Given the description of an element on the screen output the (x, y) to click on. 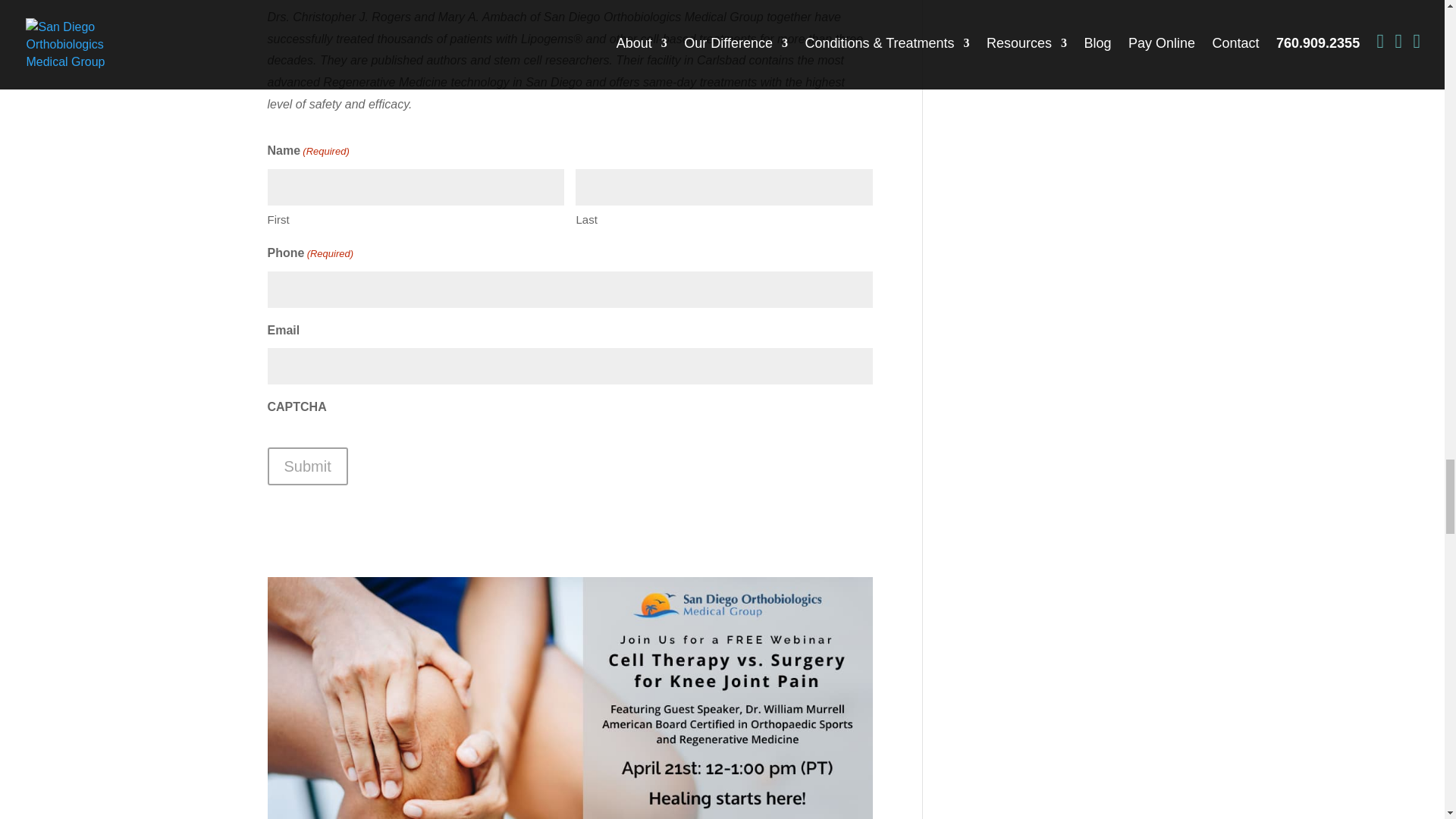
Submit (306, 466)
